Given the description of an element on the screen output the (x, y) to click on. 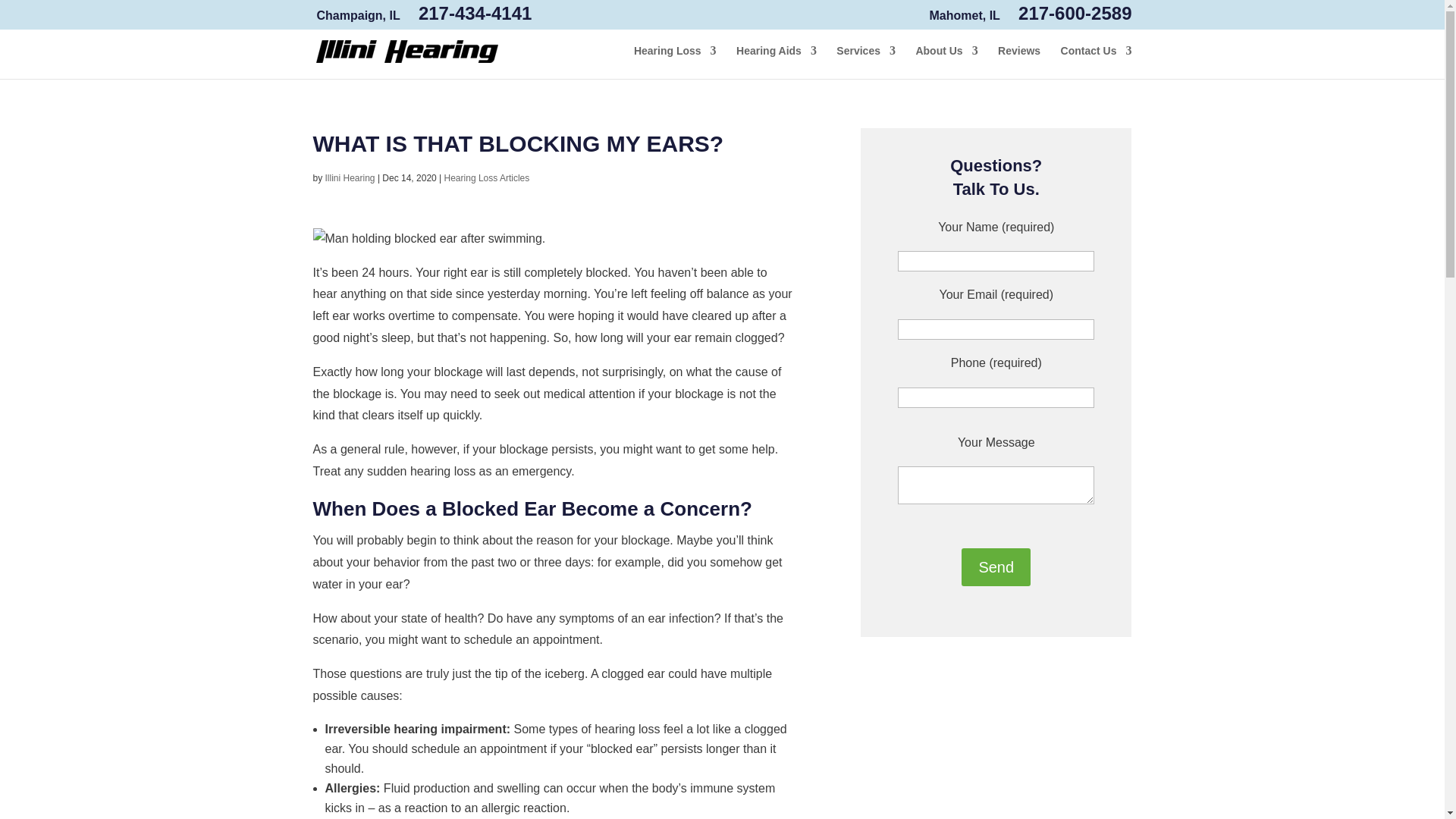
Hearing Loss (674, 61)
Contact Us (1096, 61)
Champaign, IL (358, 15)
Illini Hearing (349, 177)
Reviews (1019, 61)
Mahomet, IL (965, 15)
Hearing Loss Articles (486, 177)
Illini Hearing (406, 58)
About Us (945, 61)
Posts by Illini Hearing (349, 177)
